Given the description of an element on the screen output the (x, y) to click on. 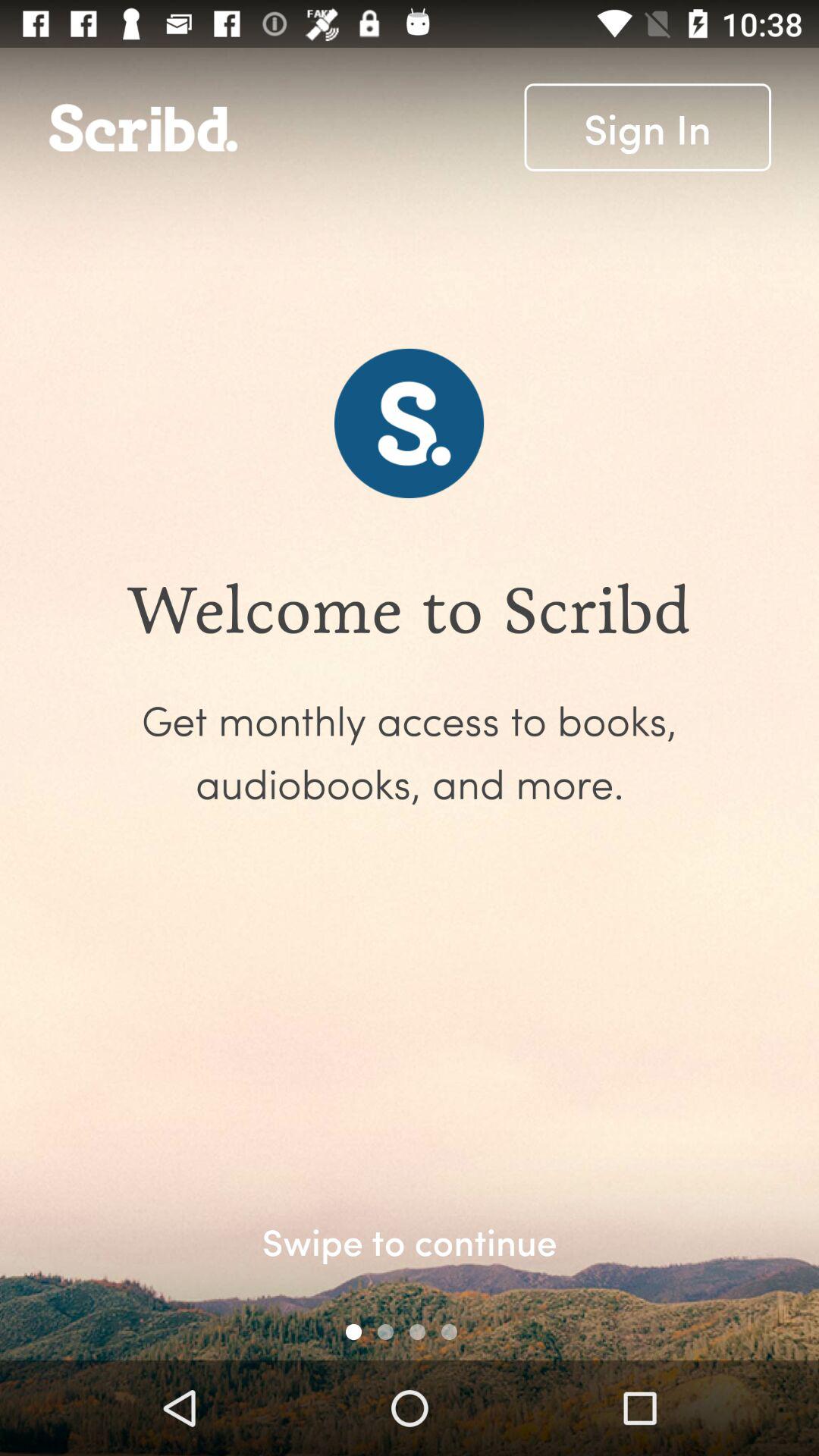
swipe to sign in icon (647, 127)
